Given the description of an element on the screen output the (x, y) to click on. 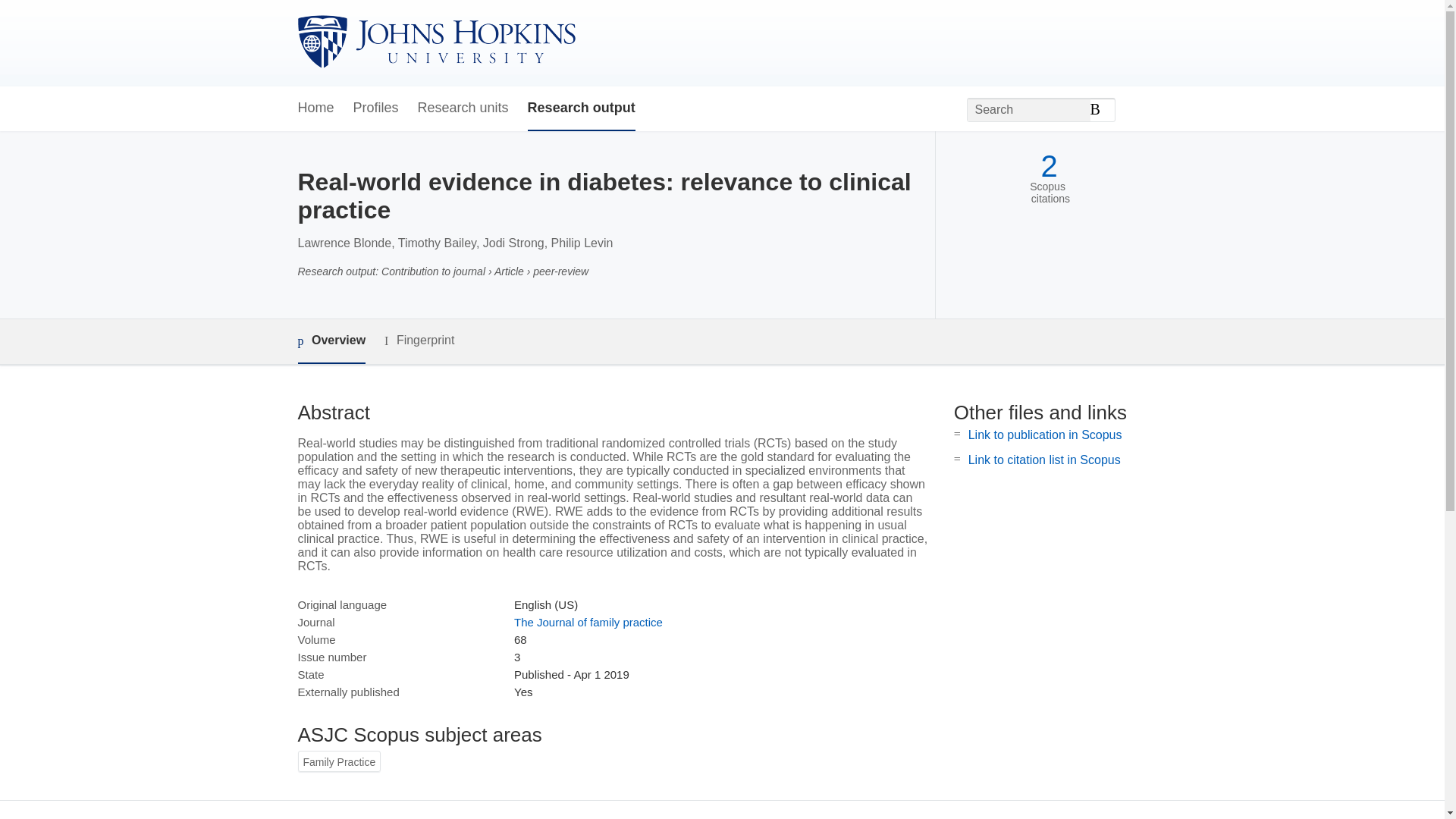
Johns Hopkins University Home (436, 43)
Research units (462, 108)
Fingerprint (419, 340)
Link to citation list in Scopus (1044, 459)
The Journal of family practice (587, 621)
Profiles (375, 108)
Research output (580, 108)
Overview (331, 341)
Link to publication in Scopus (1045, 434)
